Given the description of an element on the screen output the (x, y) to click on. 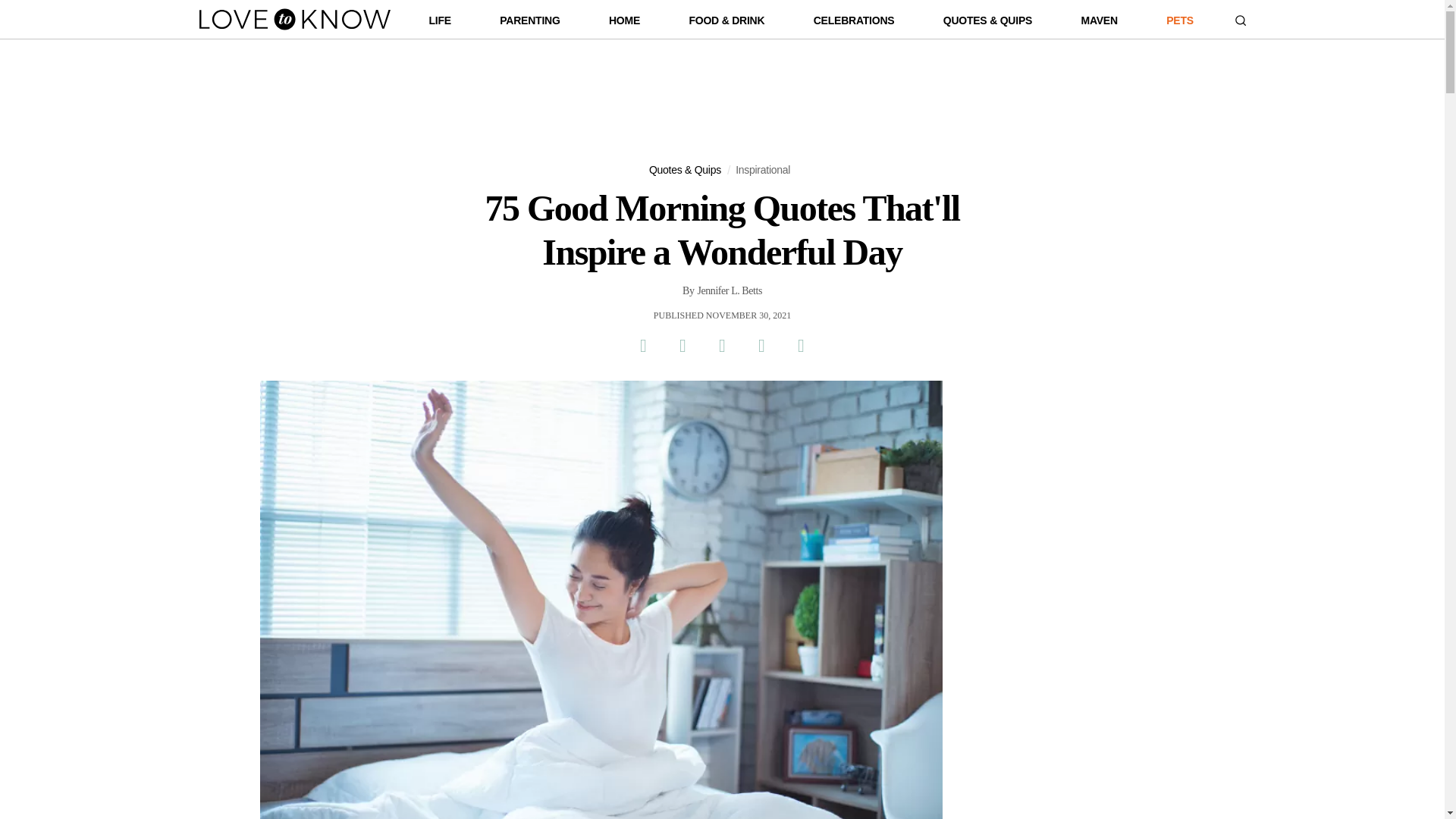
Jennifer L. Betts (729, 290)
Share on Twitter (681, 345)
Share via Email (760, 345)
HOME (624, 23)
LIFE (439, 23)
Copy Link (800, 345)
Share on Pinterest (721, 345)
Share on Facebook (642, 345)
PARENTING (529, 23)
